Given the description of an element on the screen output the (x, y) to click on. 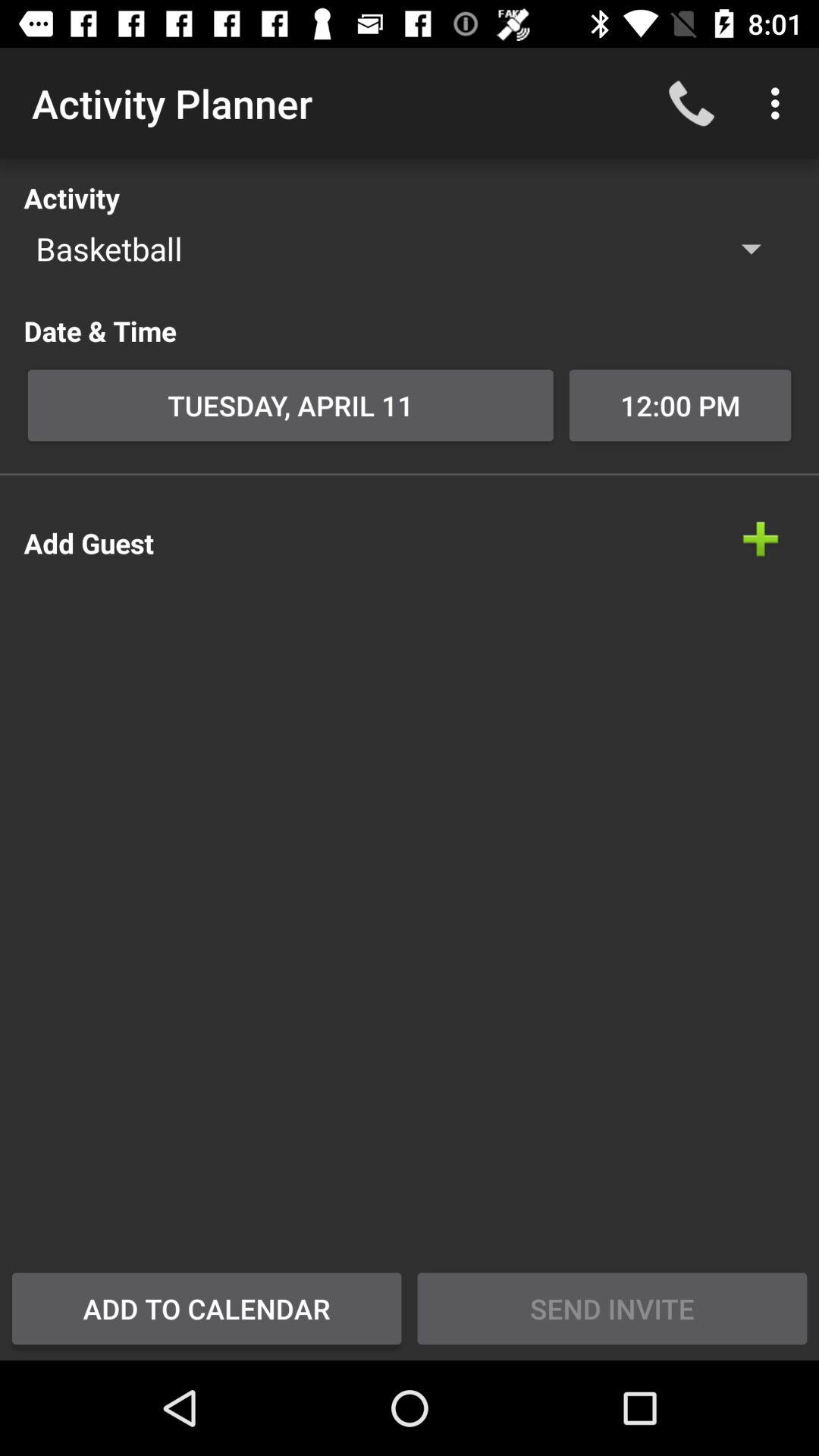
choose icon next to the send invite icon (206, 1308)
